Given the description of an element on the screen output the (x, y) to click on. 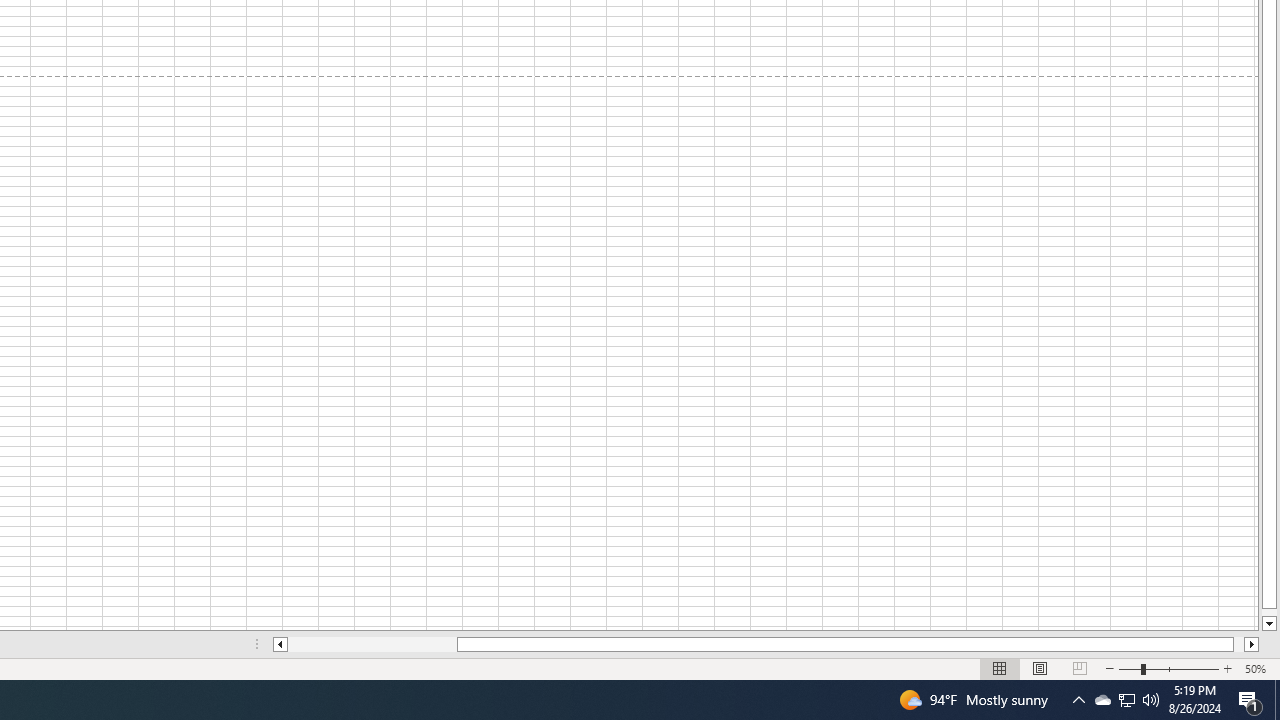
Page Break Preview (1079, 668)
Page Layout (1039, 668)
Page left (372, 644)
Zoom Out (1129, 668)
Zoom In (1227, 668)
Zoom (1168, 668)
Page down (1268, 612)
Column right (1252, 644)
Normal (1000, 668)
Class: NetUIScrollBar (765, 644)
Column left (279, 644)
Page right (1238, 644)
Line down (1268, 624)
